Given the description of an element on the screen output the (x, y) to click on. 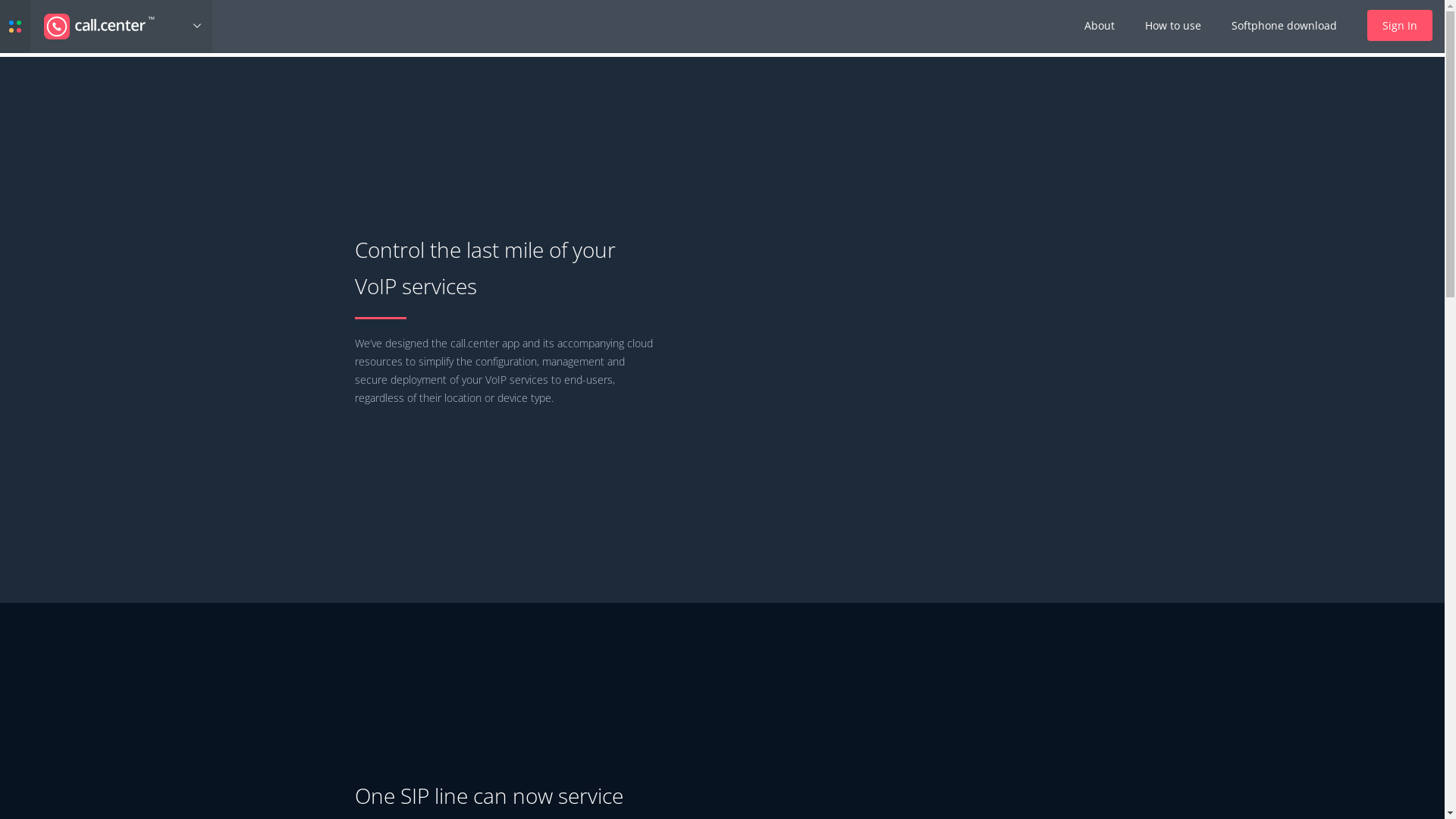
About Element type: text (1099, 24)
Sign In Element type: text (1399, 24)
How to use Element type: text (1172, 24)
Softphone download Element type: text (1284, 24)
